Given the description of an element on the screen output the (x, y) to click on. 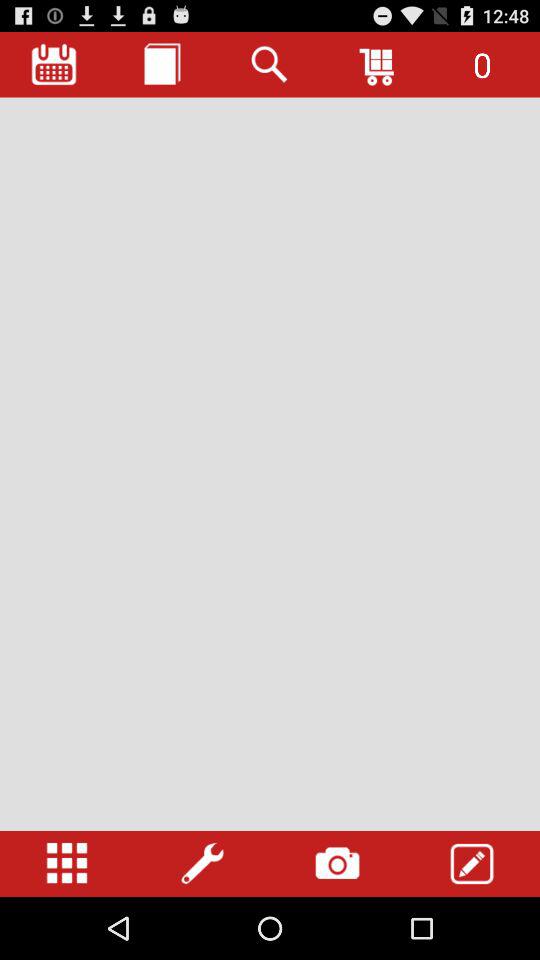
open settings (67, 863)
